Given the description of an element on the screen output the (x, y) to click on. 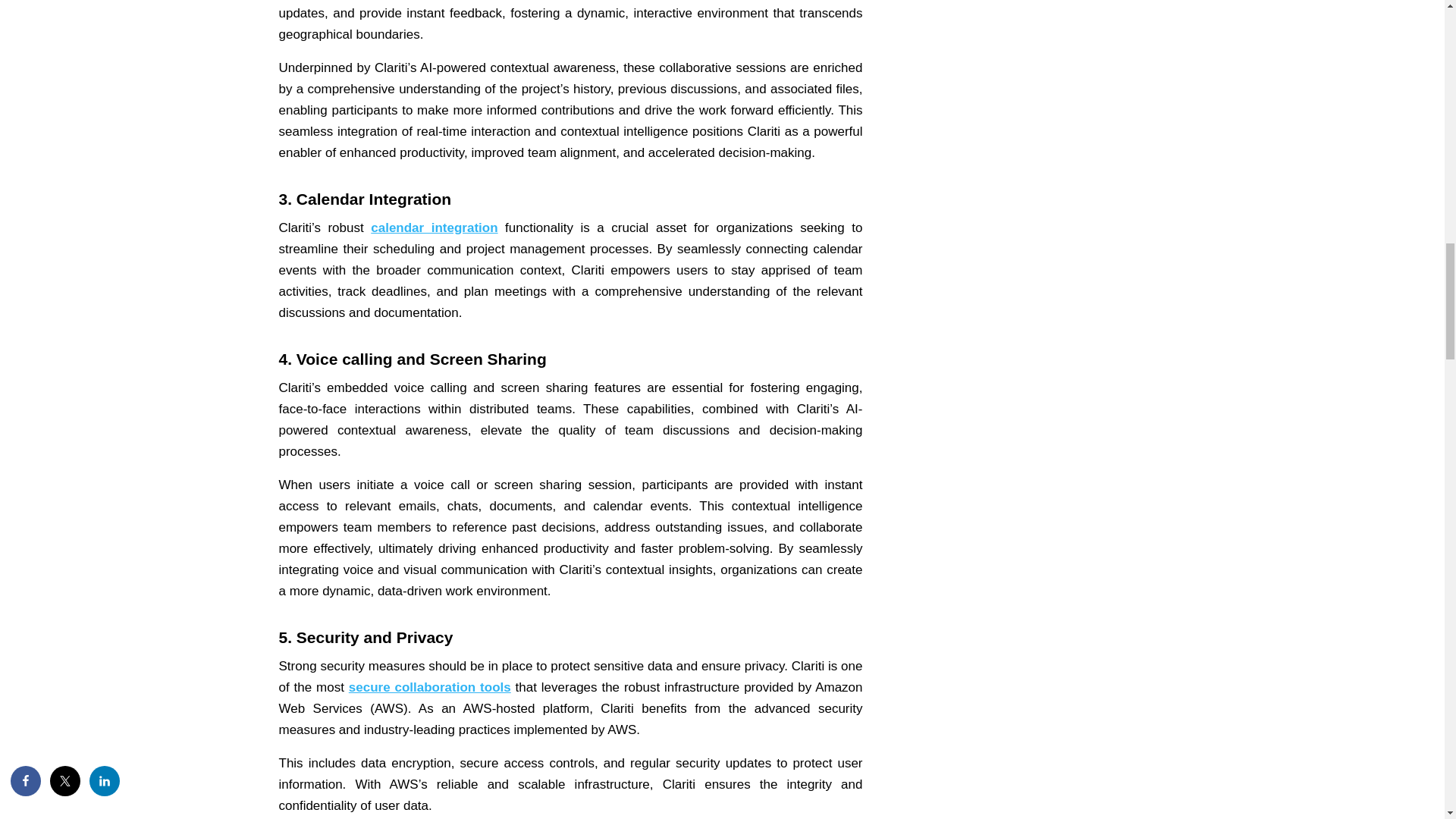
calendar integration (434, 227)
secure collaboration tools (430, 687)
